Given the description of an element on the screen output the (x, y) to click on. 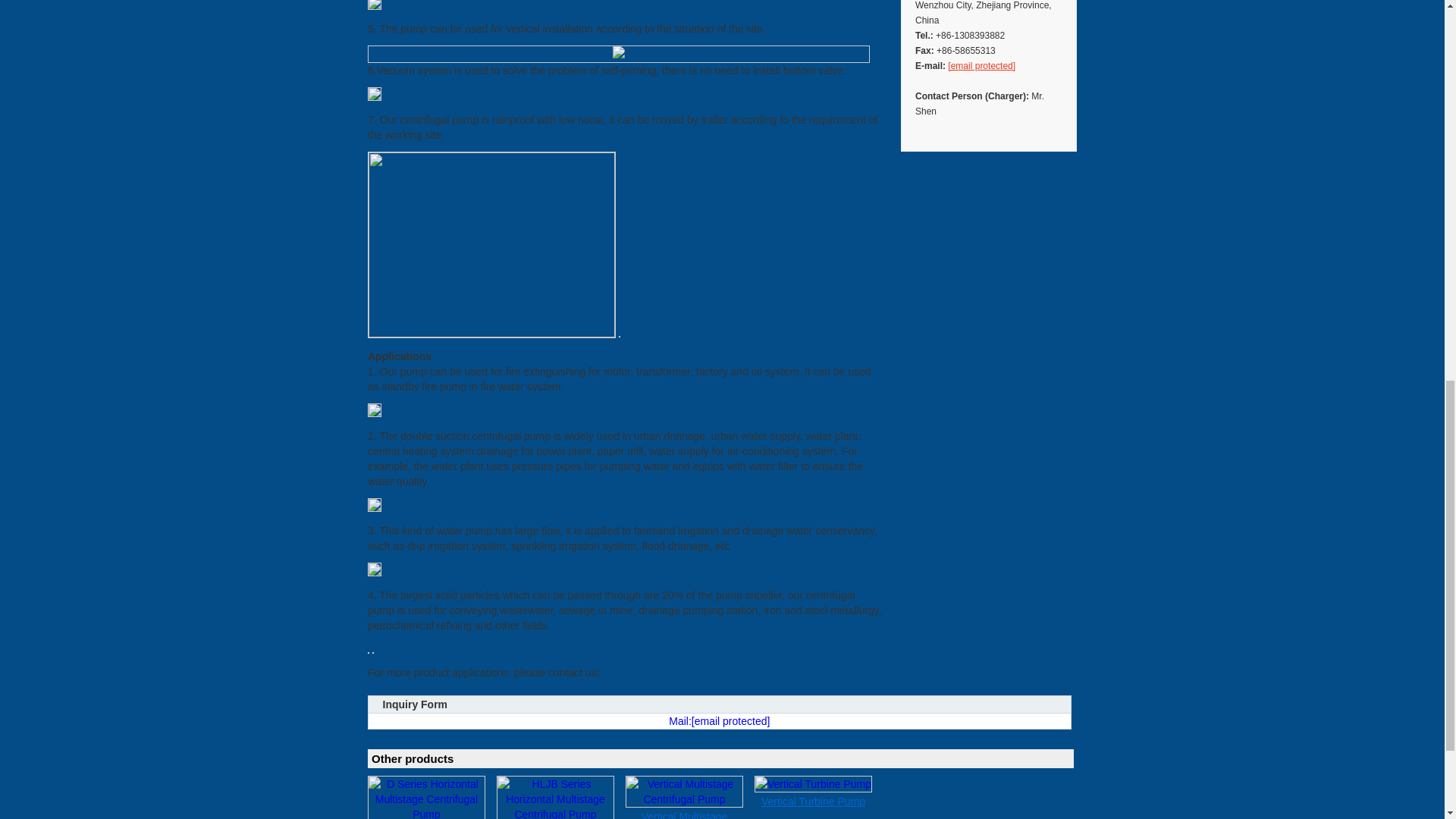
Vertical Turbine Pump (813, 801)
Vertical Multistage Centrifugal Pump (684, 815)
